Given the description of an element on the screen output the (x, y) to click on. 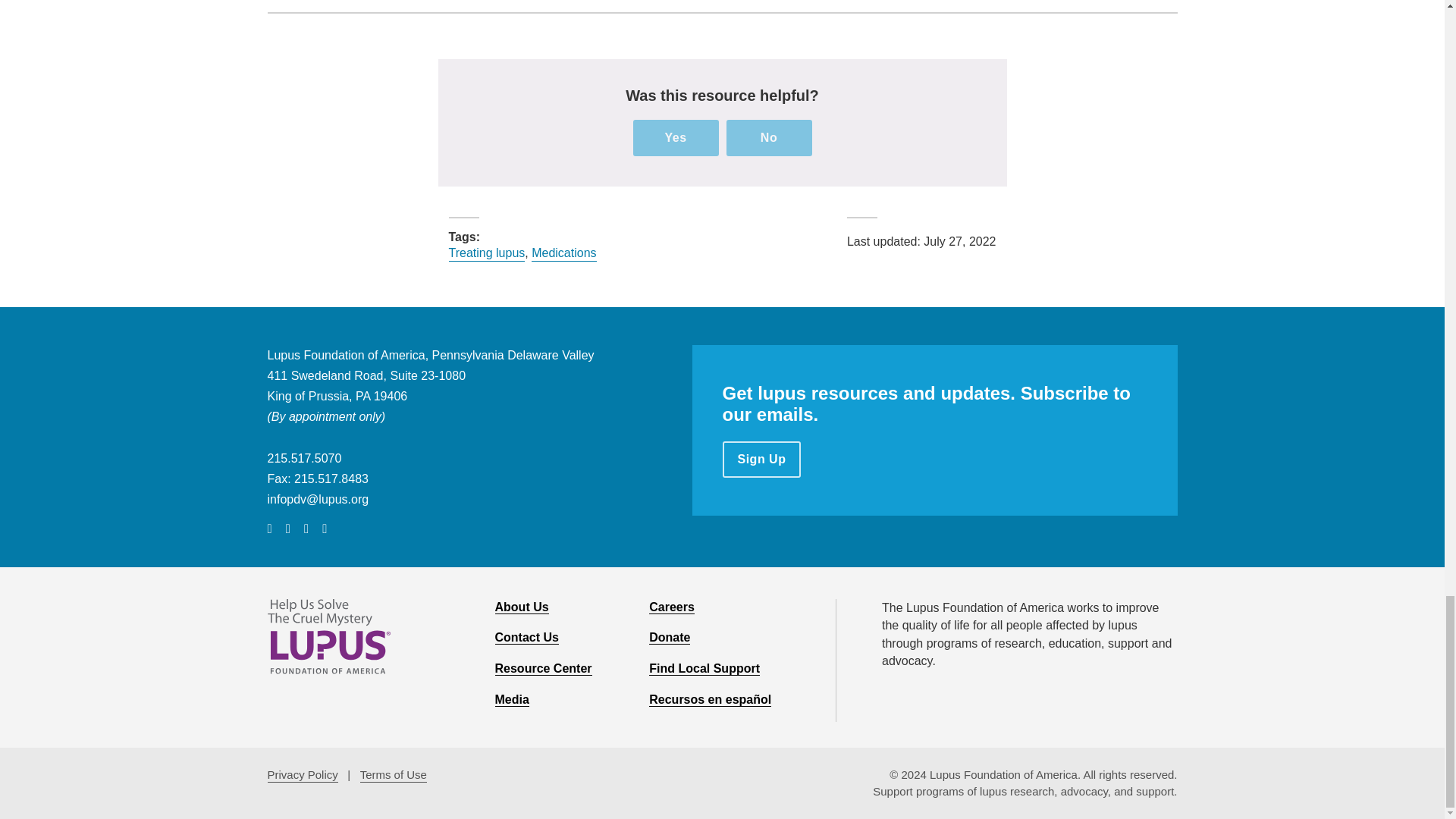
Lupus Foundation of America (328, 636)
